Given the description of an element on the screen output the (x, y) to click on. 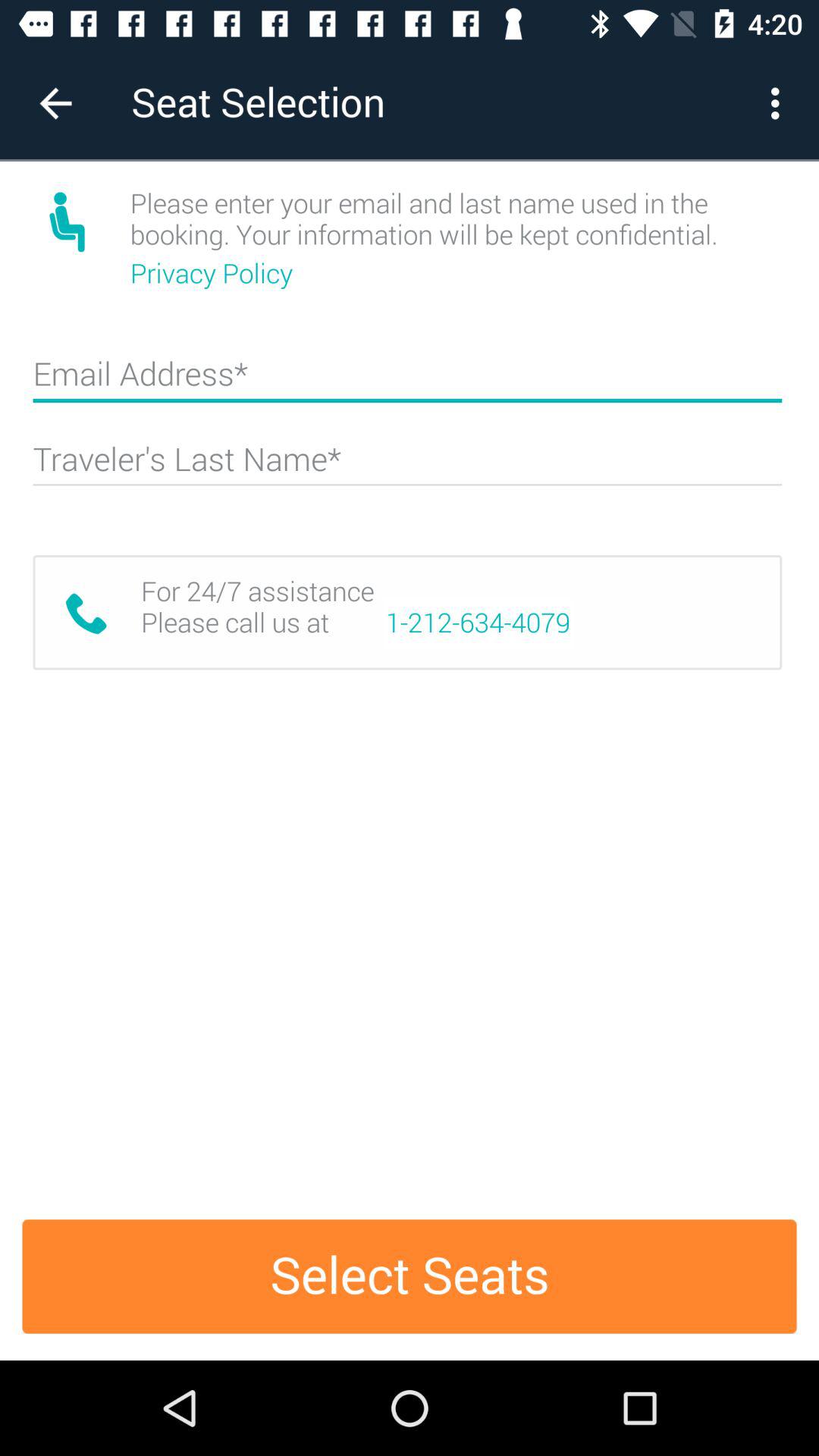
turn on the icon to the right of the for 24 7 icon (477, 622)
